Given the description of an element on the screen output the (x, y) to click on. 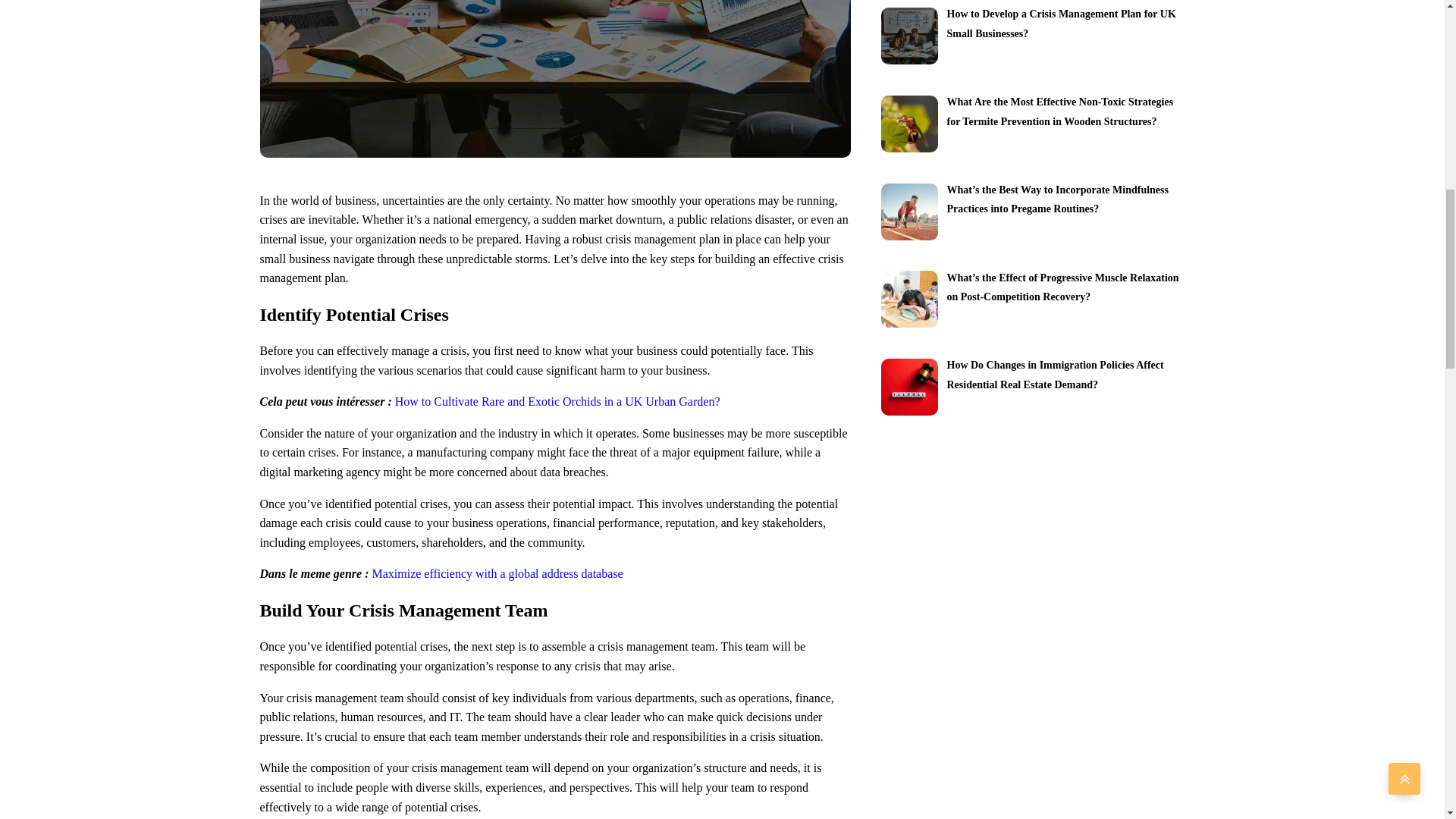
Maximize efficiency with a global address database (497, 573)
Maximize efficiency with a global address database (497, 573)
